Given the description of an element on the screen output the (x, y) to click on. 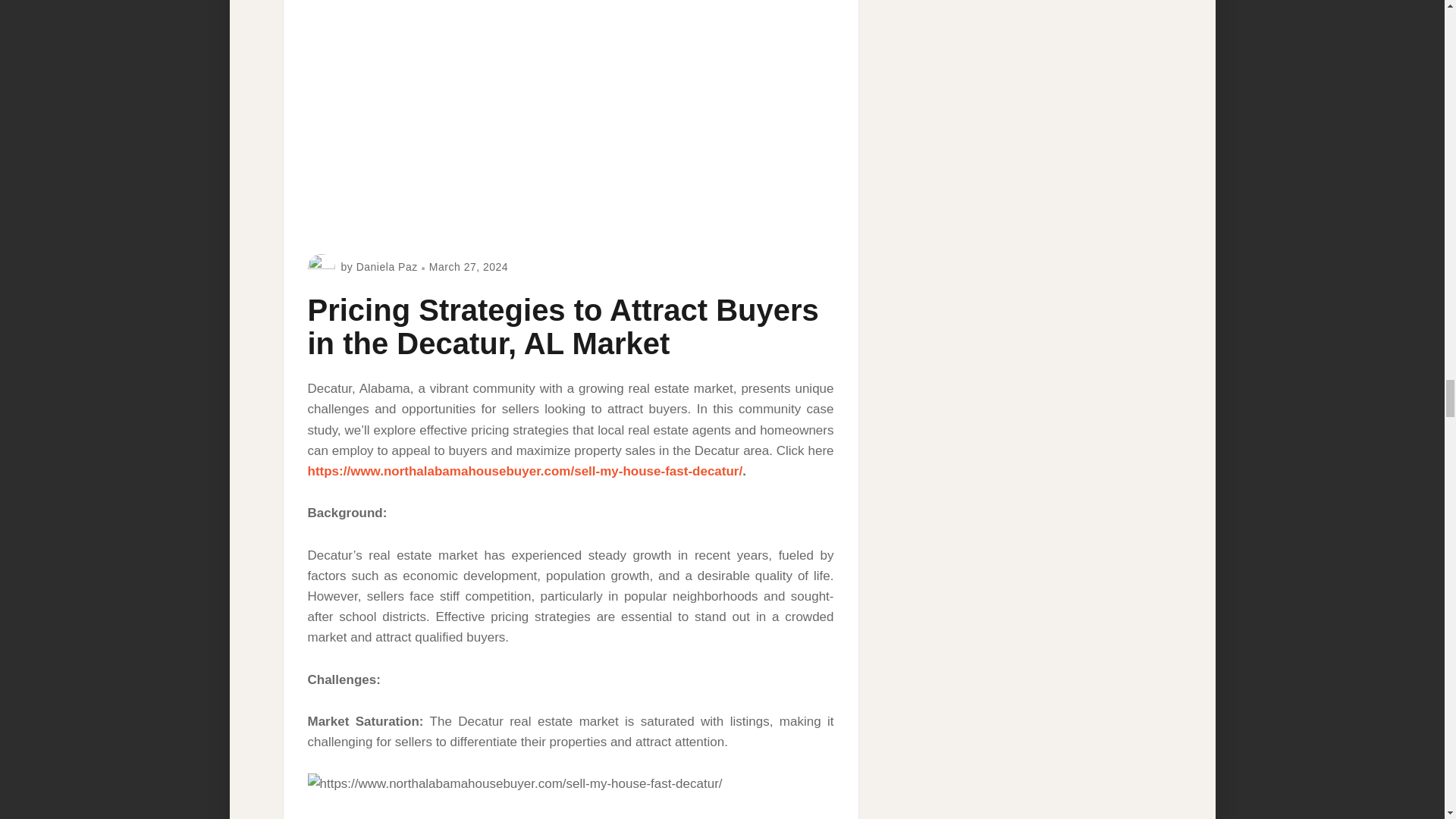
Daniela Paz (386, 266)
March 27, 2024 (468, 266)
